Given the description of an element on the screen output the (x, y) to click on. 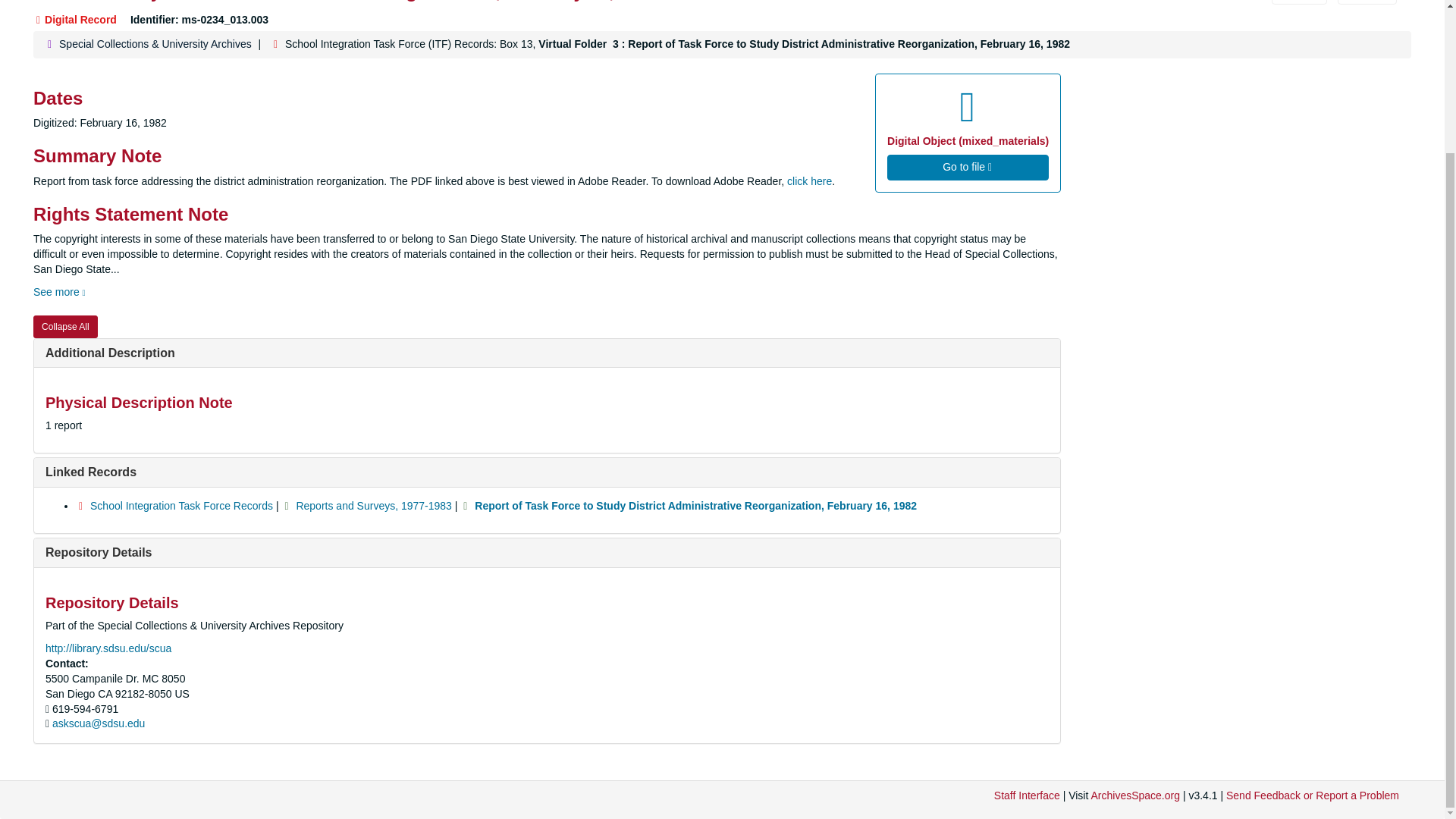
Reports and Surveys, 1977-1983 (373, 505)
Link to digital object (968, 132)
Additional Description (109, 352)
Send Feedback or Report a Problem (1312, 795)
ArchivesSpace.org (1134, 795)
click here (809, 181)
Citation (1298, 2)
Send email (98, 723)
Linked Records (90, 472)
School Integration Task Force Records (181, 505)
